Given the description of an element on the screen output the (x, y) to click on. 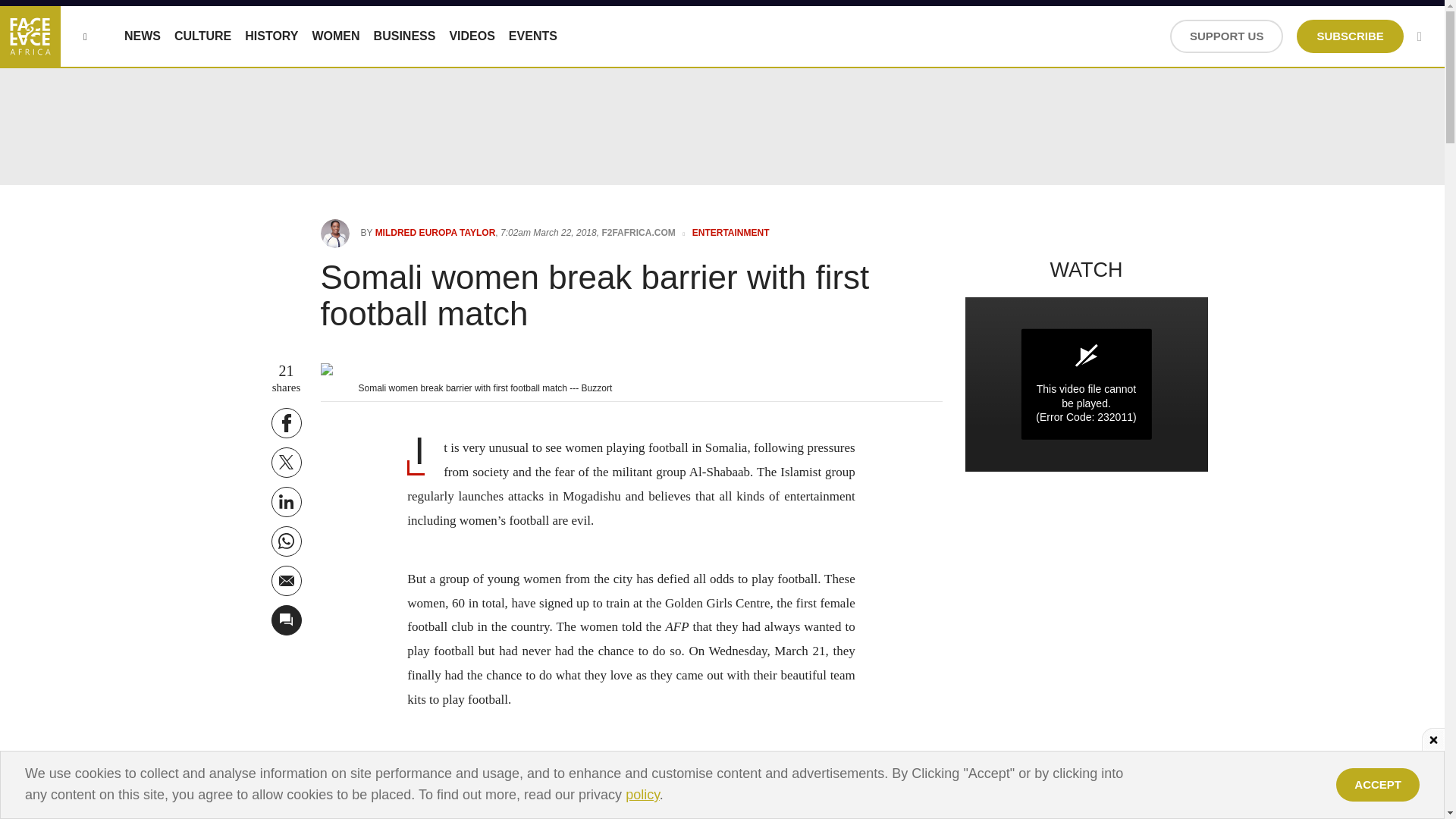
CULTURE (202, 35)
3rd party ad content (721, 785)
VIDEOS (471, 35)
SUBSCRIBE (1350, 36)
SUPPORT US (1227, 36)
EVENTS (532, 35)
HISTORY (271, 35)
3rd party ad content (722, 785)
WOMEN (335, 35)
BUSINESS (404, 35)
NEWS (141, 35)
